Given the description of an element on the screen output the (x, y) to click on. 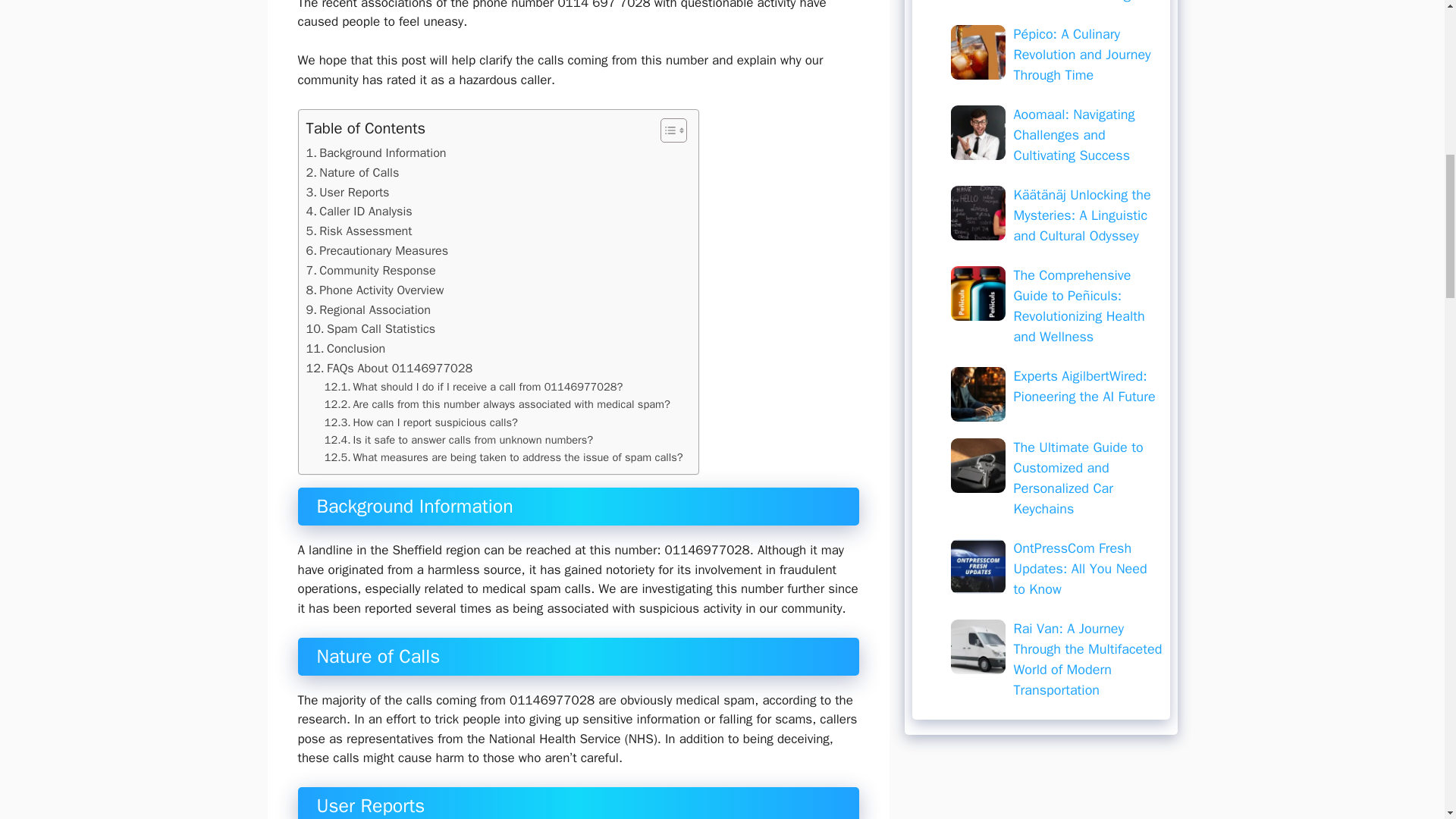
Precautionary Measures (376, 250)
Nature of Calls (351, 172)
Phone Activity Overview (374, 290)
FAQs About 01146977028 (389, 368)
Caller ID Analysis (358, 211)
Conclusion (345, 348)
Phone Activity Overview (374, 290)
Is it safe to answer calls from unknown numbers? (458, 439)
Risk Assessment (358, 230)
User Reports (347, 192)
User Reports (347, 192)
Precautionary Measures (376, 250)
Caller ID Analysis (358, 211)
Background Information (375, 152)
